Given the description of an element on the screen output the (x, y) to click on. 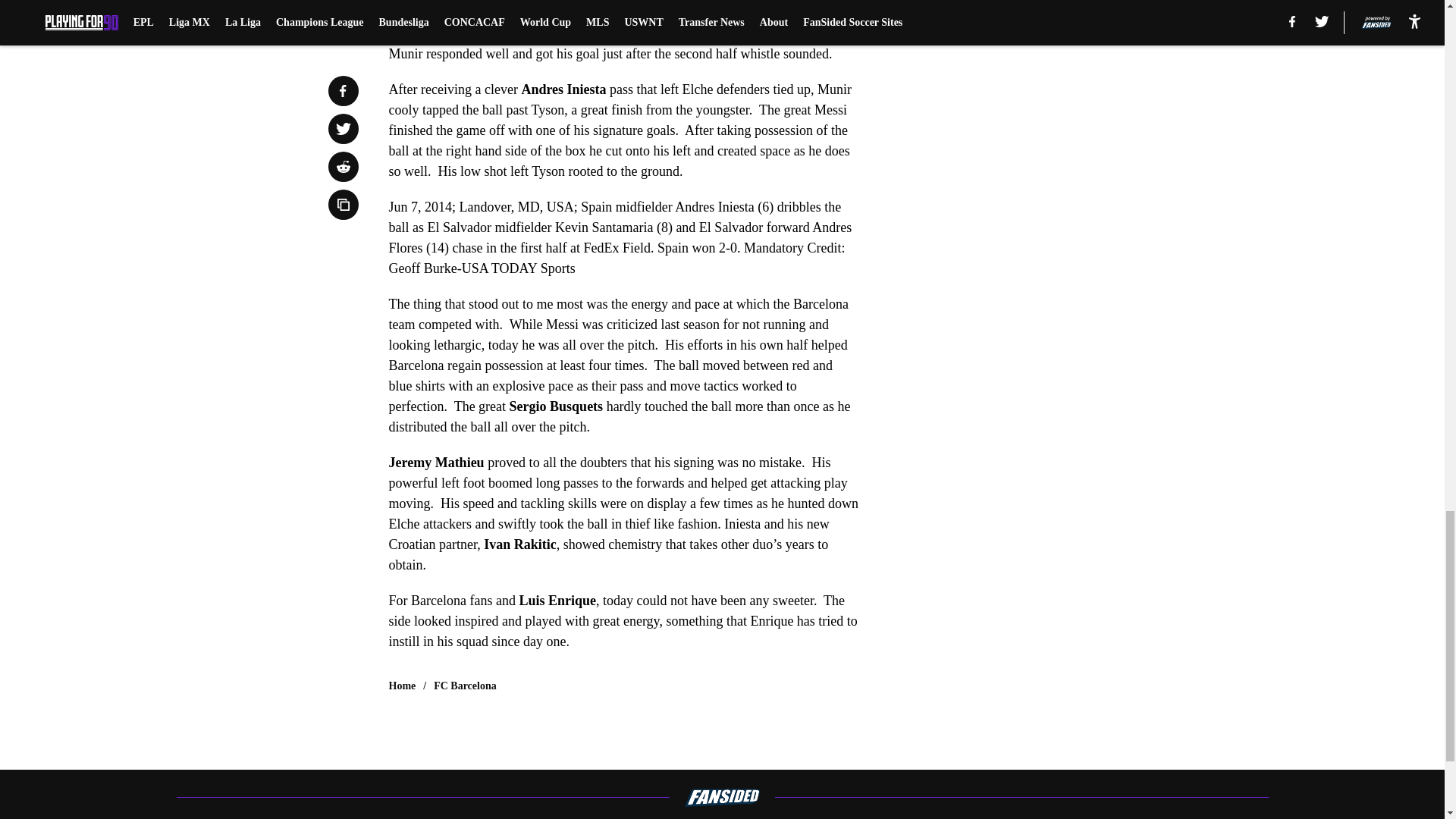
FC Barcelona (464, 685)
Home (401, 685)
